Given the description of an element on the screen output the (x, y) to click on. 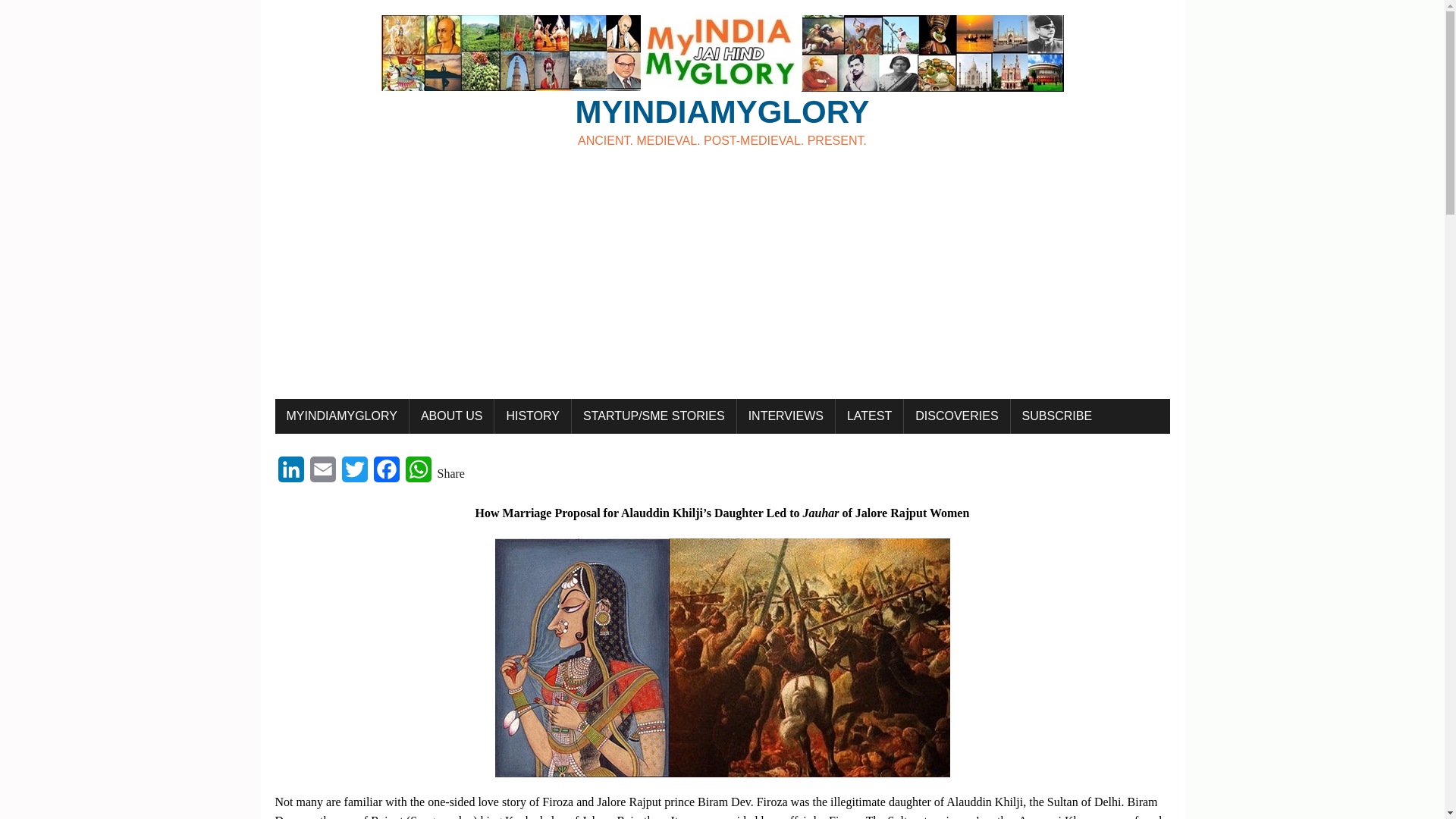
LinkedIn (290, 473)
Facebook (385, 473)
Twitter (353, 473)
Email (321, 473)
WhatsApp (722, 81)
ABOUT US (417, 473)
MYINDIAMYGLORY (452, 416)
myIndiamyGlory (341, 416)
HISTORY (722, 81)
Advertisement (532, 416)
